Given the description of an element on the screen output the (x, y) to click on. 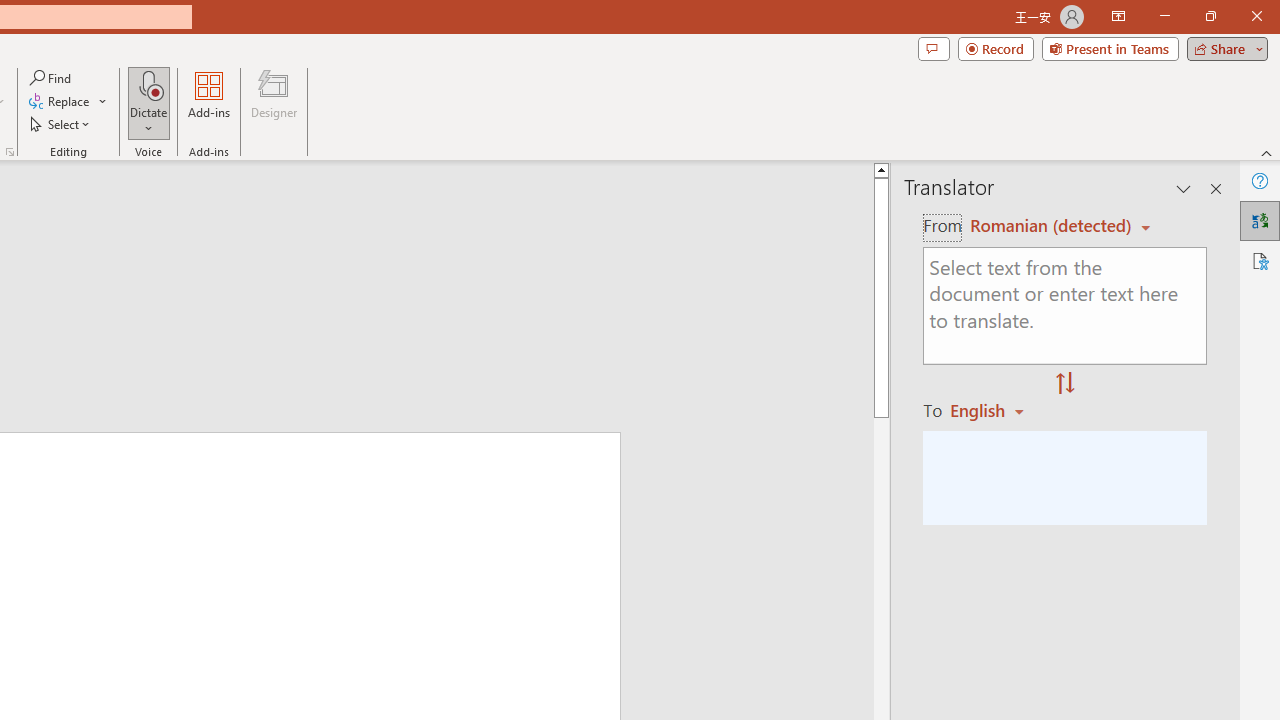
Swap "from" and "to" languages. (1065, 383)
Format Object... (9, 151)
Find... (51, 78)
Translator (1260, 220)
Romanian (detected) (1047, 225)
Dictate (149, 102)
